Given the description of an element on the screen output the (x, y) to click on. 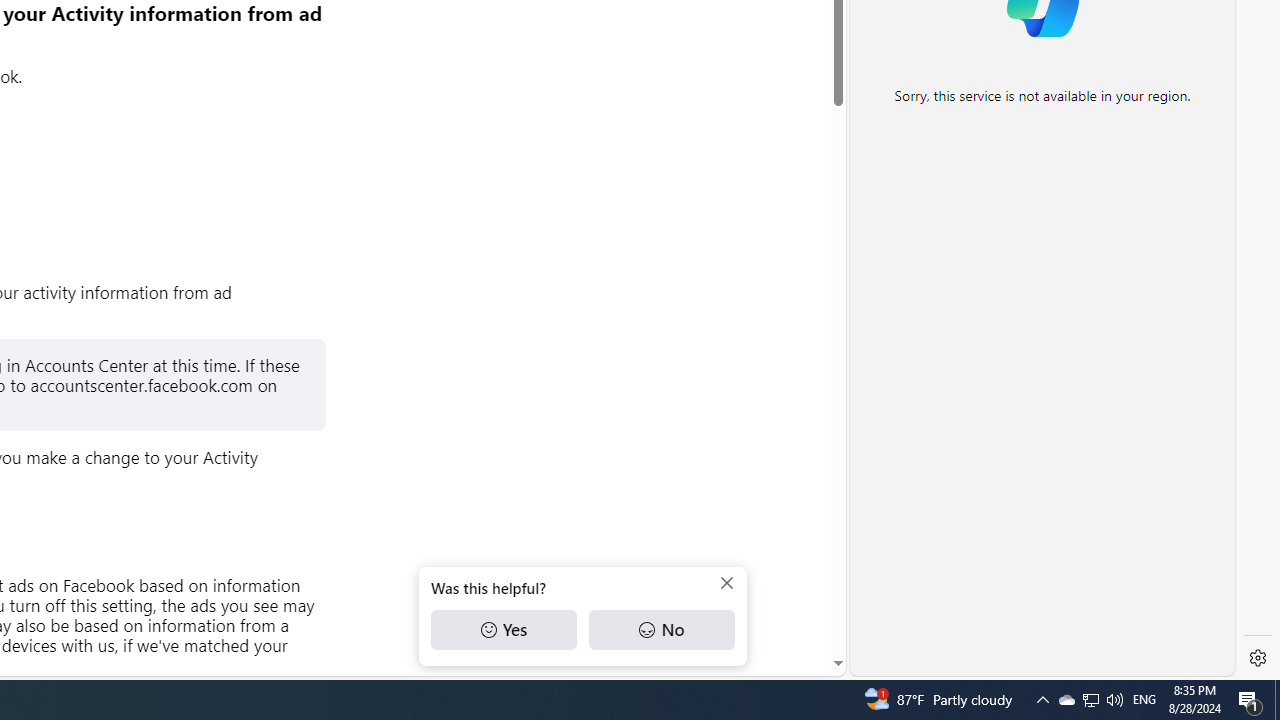
Dismiss (726, 583)
Settings (1258, 658)
Yes (504, 629)
No (661, 629)
